Given the description of an element on the screen output the (x, y) to click on. 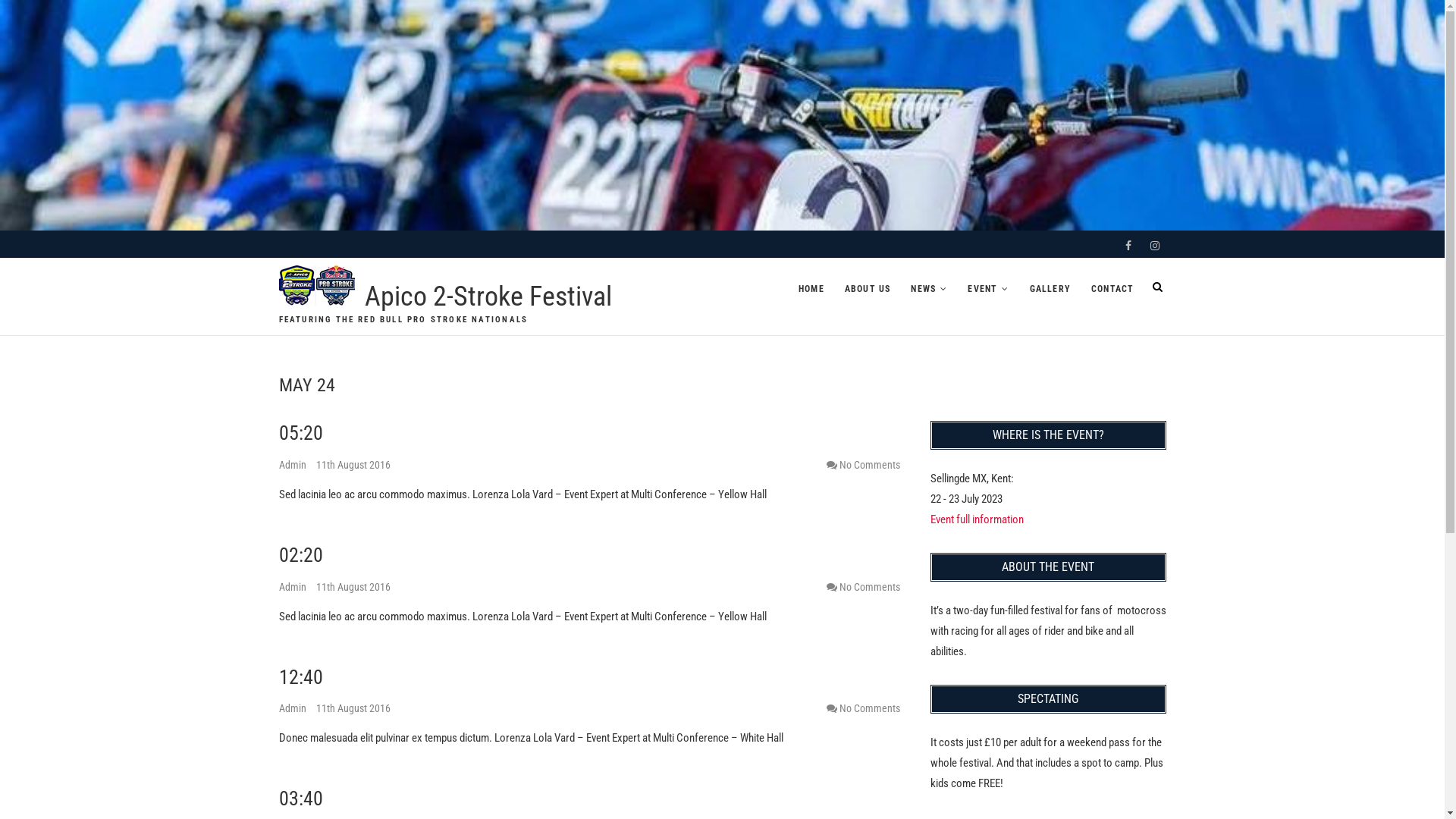
No Comments Element type: text (868, 708)
Admin Element type: text (293, 708)
HOME Element type: text (811, 288)
Apico 2-Stroke Festival Element type: text (487, 296)
EVENT Element type: text (987, 288)
Facebook Element type: text (1127, 245)
CONTACT Element type: text (1112, 288)
ABOUT US Element type: text (867, 288)
Event full information Element type: text (975, 519)
11th August 2016 Element type: text (352, 586)
12:40 Element type: text (301, 676)
02:20 Element type: text (301, 554)
GALLERY Element type: text (1049, 288)
11th August 2016 Element type: text (352, 464)
NEWS Element type: text (928, 288)
03:40 Element type: text (301, 798)
11th August 2016 Element type: text (352, 708)
No Comments Element type: text (868, 464)
05:20 Element type: text (301, 432)
Admin Element type: text (293, 586)
Instagram Element type: text (1154, 245)
No Comments Element type: text (868, 586)
Admin Element type: text (293, 464)
